Given the description of an element on the screen output the (x, y) to click on. 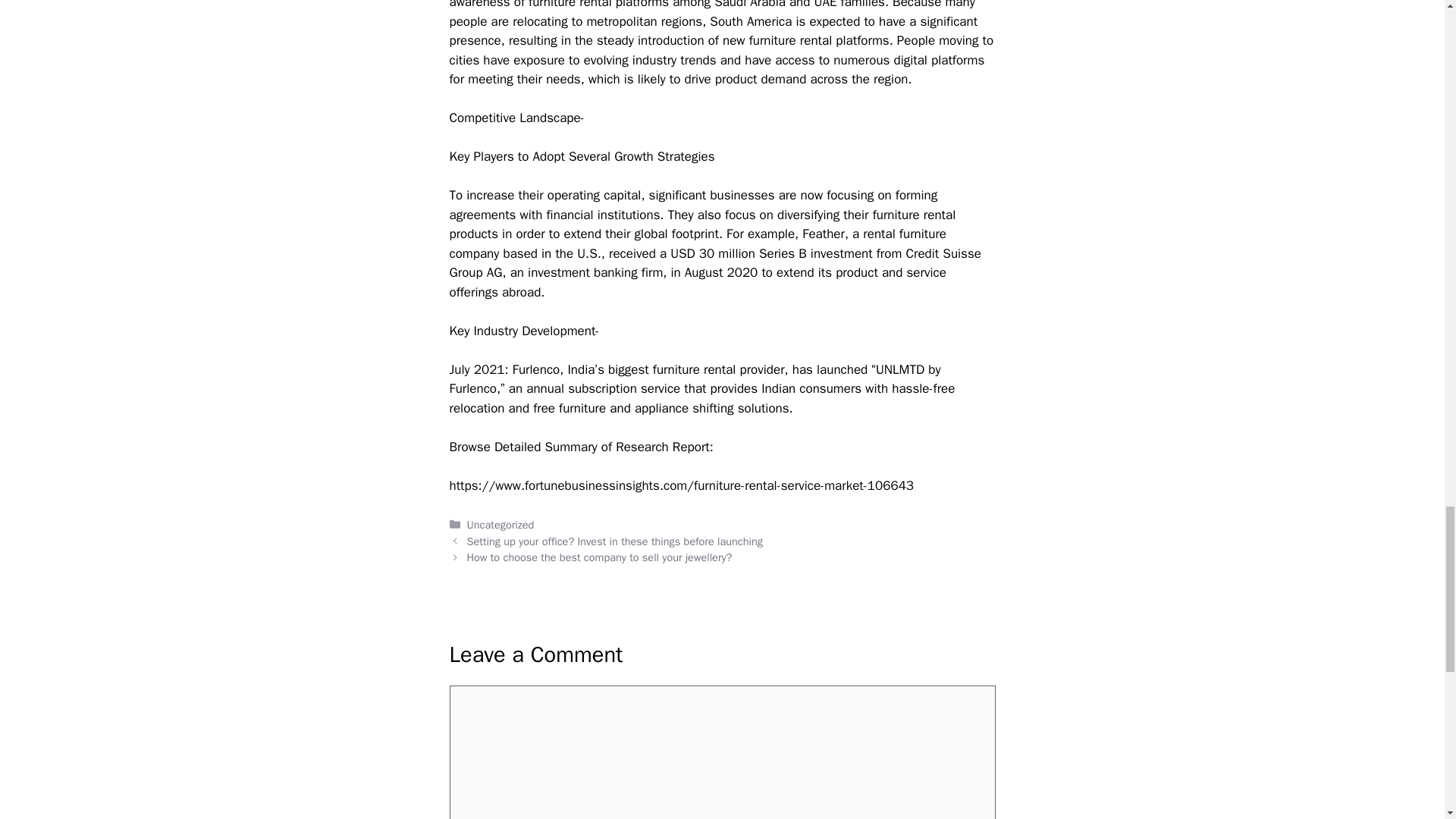
How to choose the best company to sell your jewellery? (599, 557)
Uncategorized (500, 524)
